Given the description of an element on the screen output the (x, y) to click on. 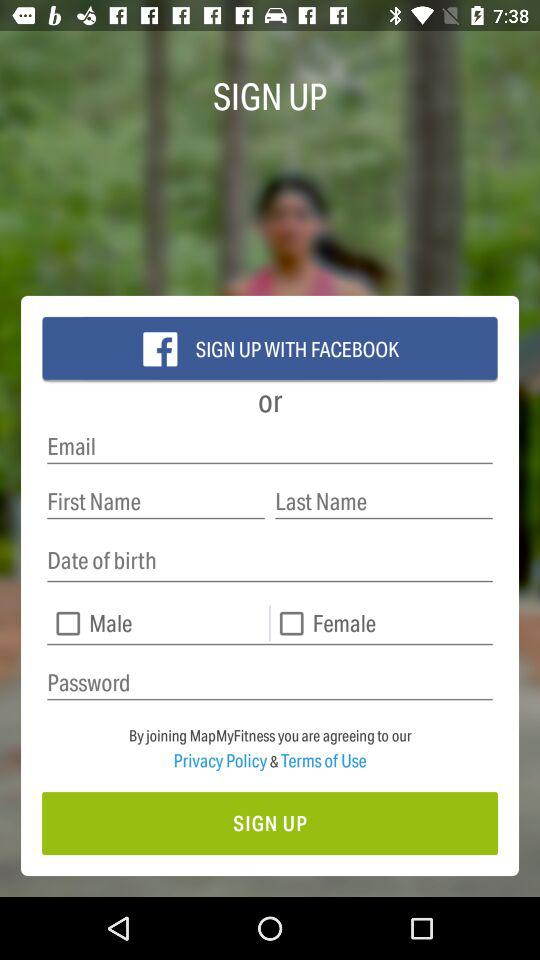
click on the field email which is below or (269, 446)
click on male check box (157, 623)
click on female check box (382, 623)
click on the blue button of the page (269, 349)
